Given the description of an element on the screen output the (x, y) to click on. 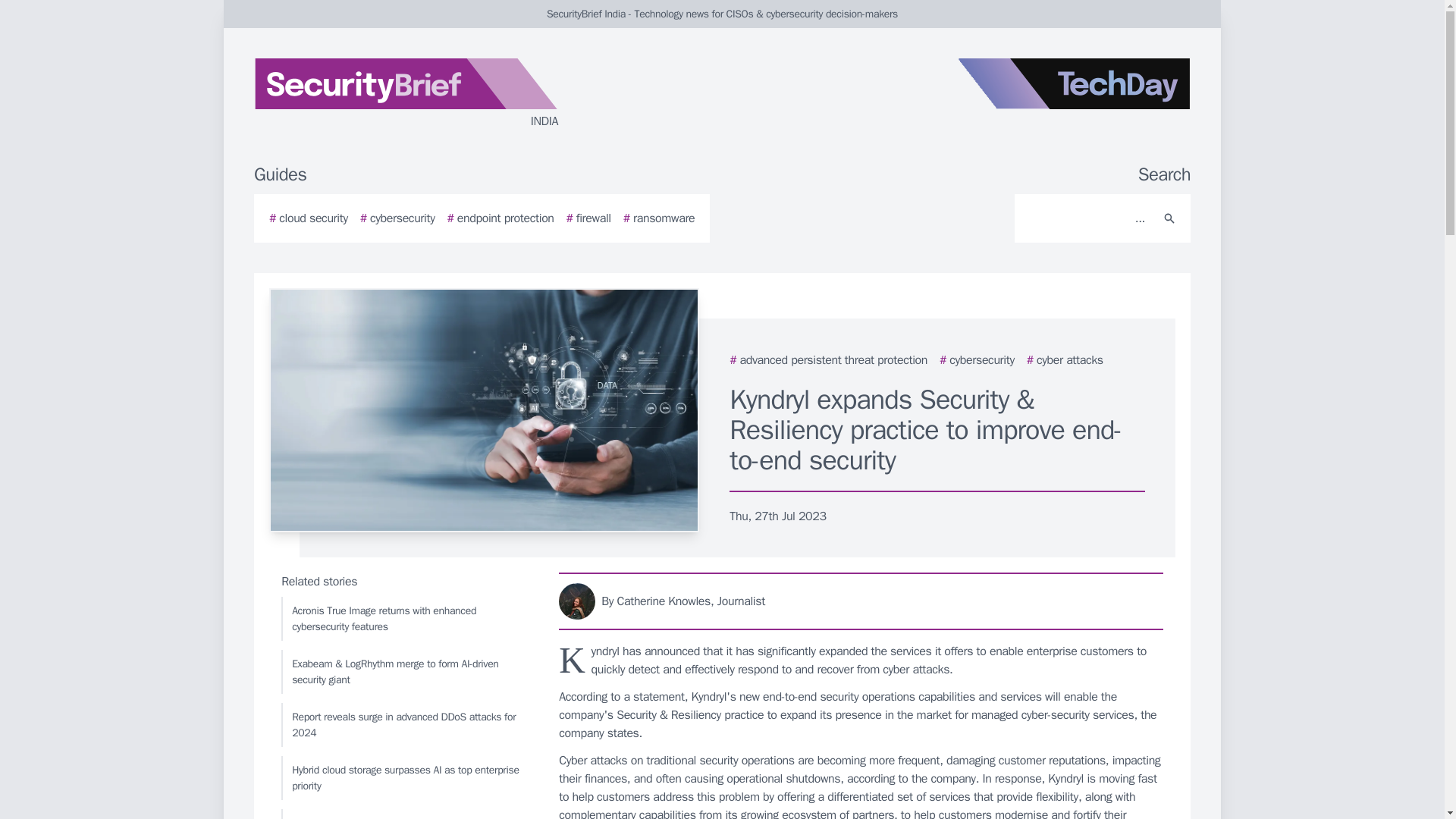
INDIA (435, 94)
Report reveals surge in advanced DDoS attacks for 2024 (406, 724)
Hybrid cloud storage surpasses AI as top enterprise priority (406, 777)
By Catherine Knowles, Journalist (861, 601)
